Given the description of an element on the screen output the (x, y) to click on. 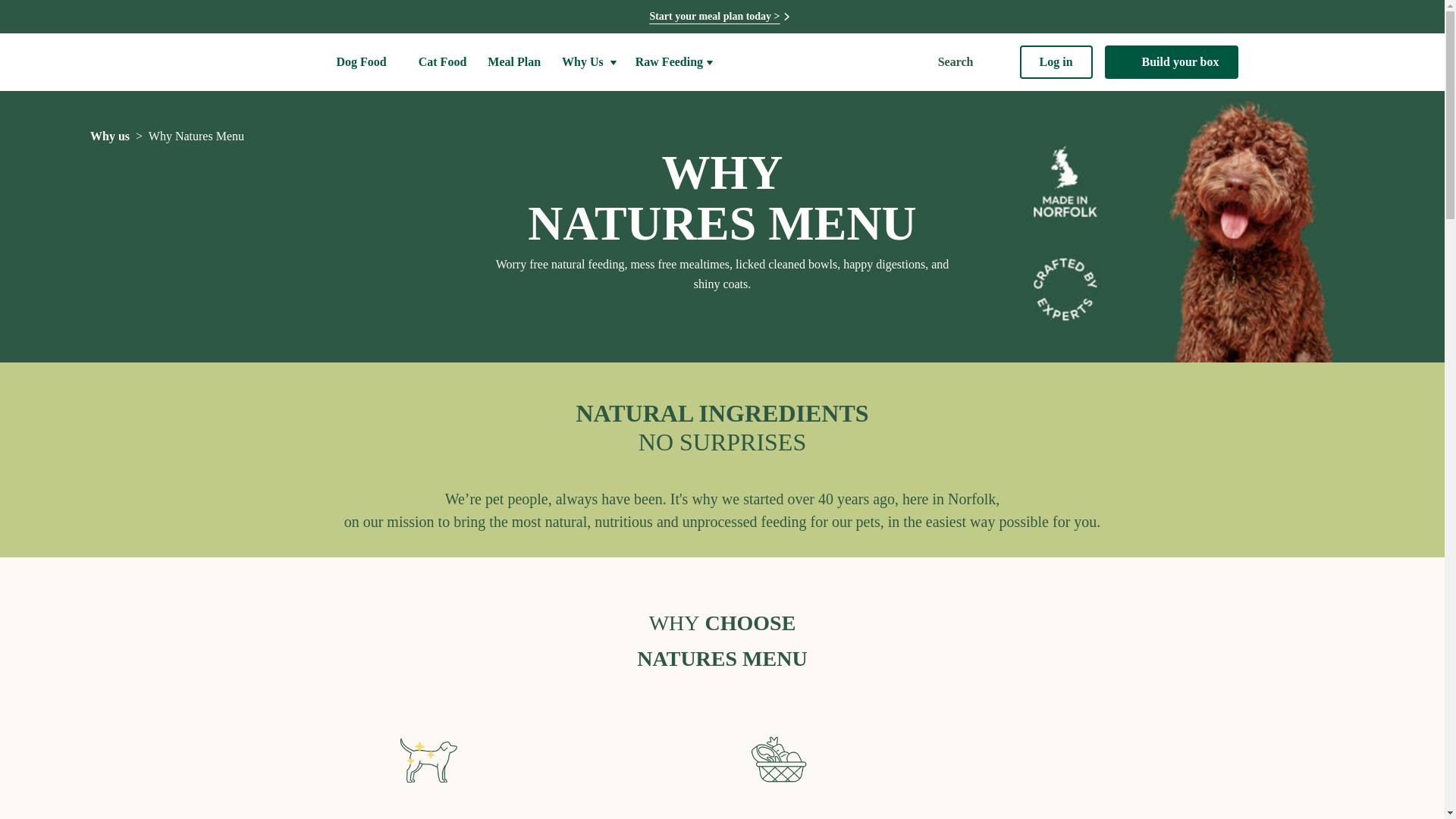
Cat Food (444, 61)
Raw Feeding (673, 61)
Why Us (589, 61)
Meal Plan (515, 61)
Dog Food (368, 61)
